Given the description of an element on the screen output the (x, y) to click on. 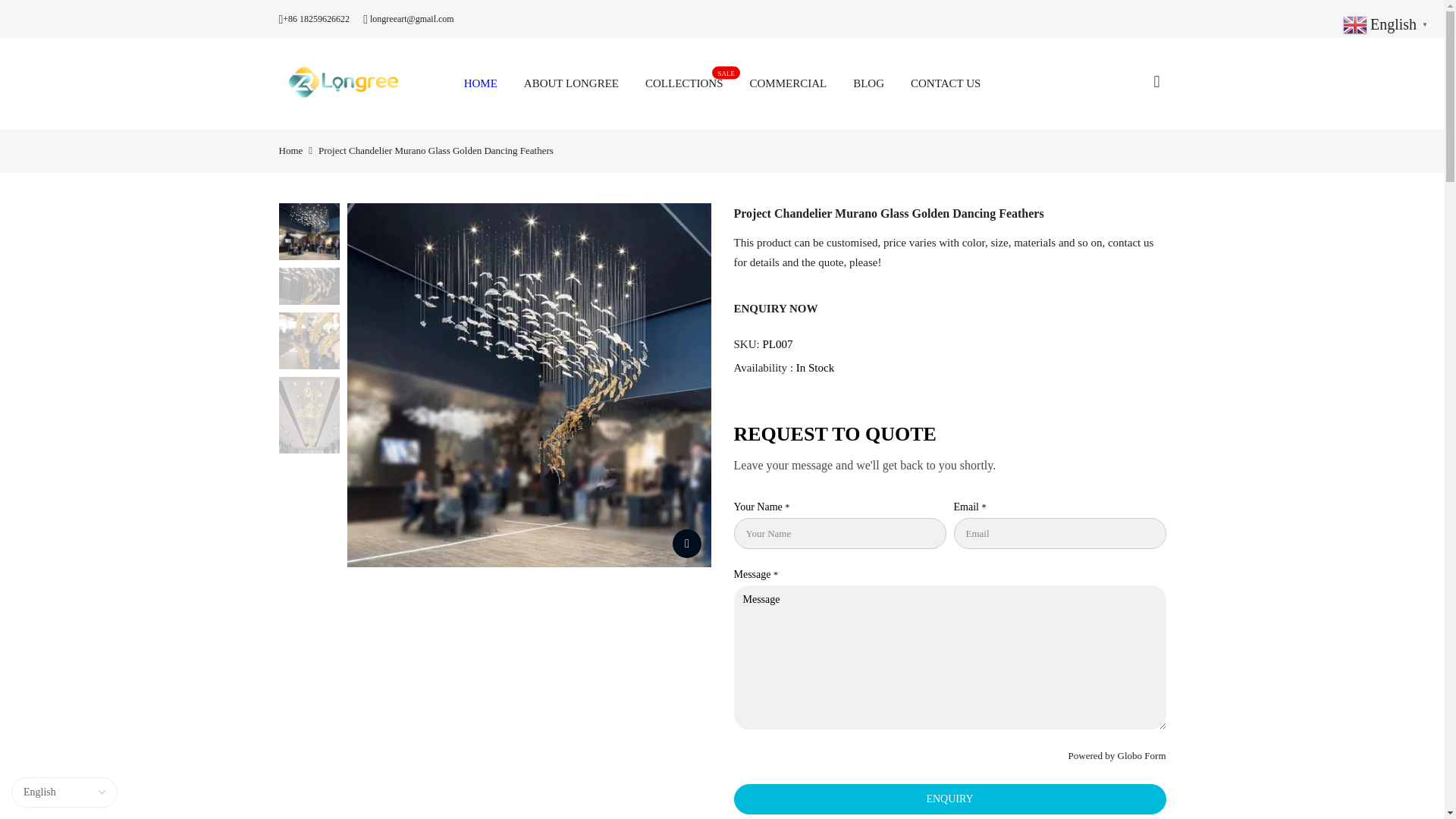
CONTACT US (946, 82)
ABOUT LONGREE (571, 82)
CASCADING CHANDELIERS (683, 82)
DECORATIVE LIGHTINGS (579, 517)
Home (574, 491)
OUTDOOR LIGHTINGS (290, 150)
GLASS WALL PLATES (566, 571)
ENQUIRY NOW (563, 597)
ARCHITECTURAL LIGHTINGS (775, 308)
COMMERCIAL (584, 544)
Globo (788, 82)
Form (1130, 755)
ENQUIRY (1155, 755)
